Given the description of an element on the screen output the (x, y) to click on. 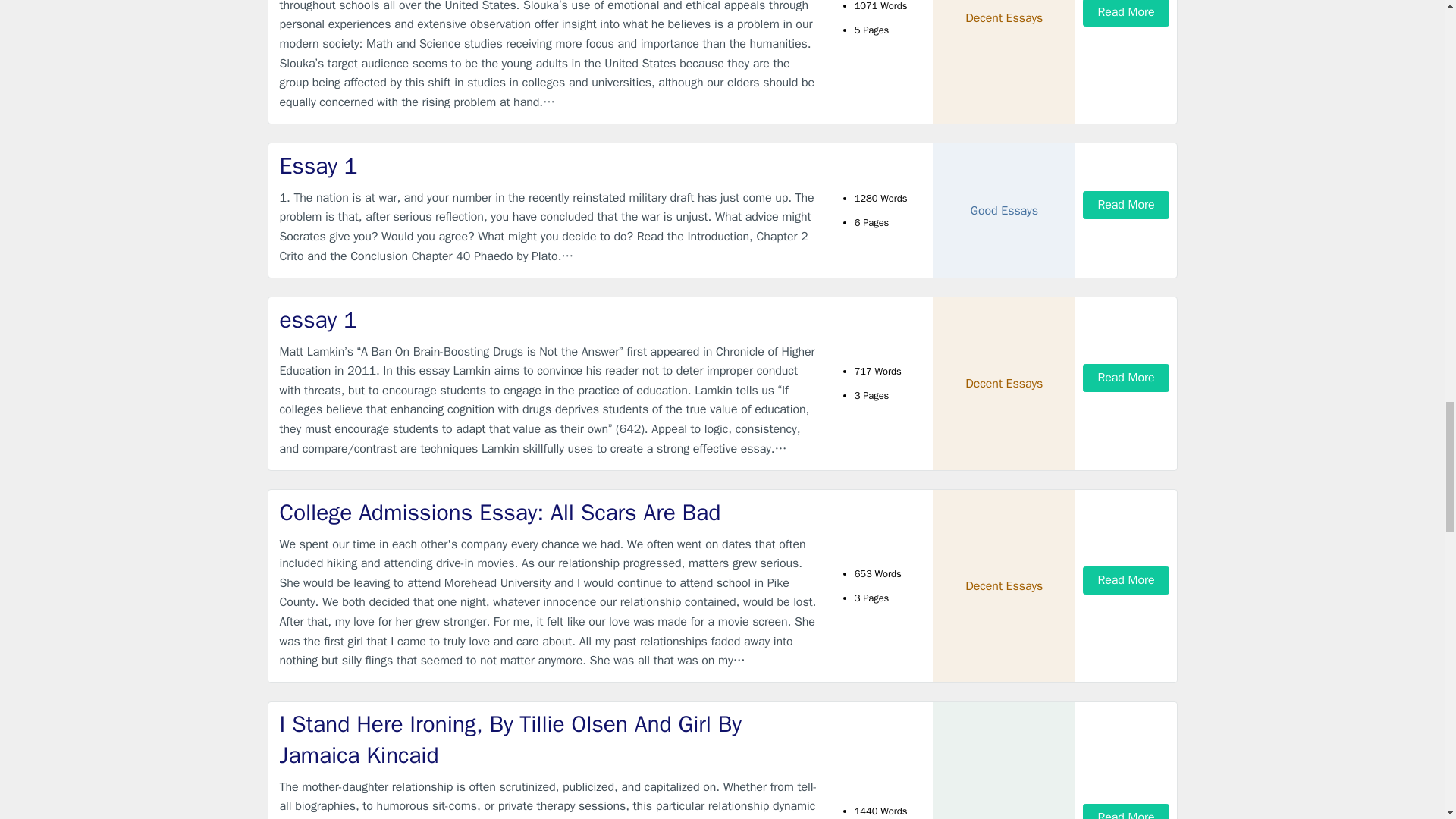
Essay 1 (548, 165)
Read More (1126, 13)
Read More (1126, 204)
